Given the description of an element on the screen output the (x, y) to click on. 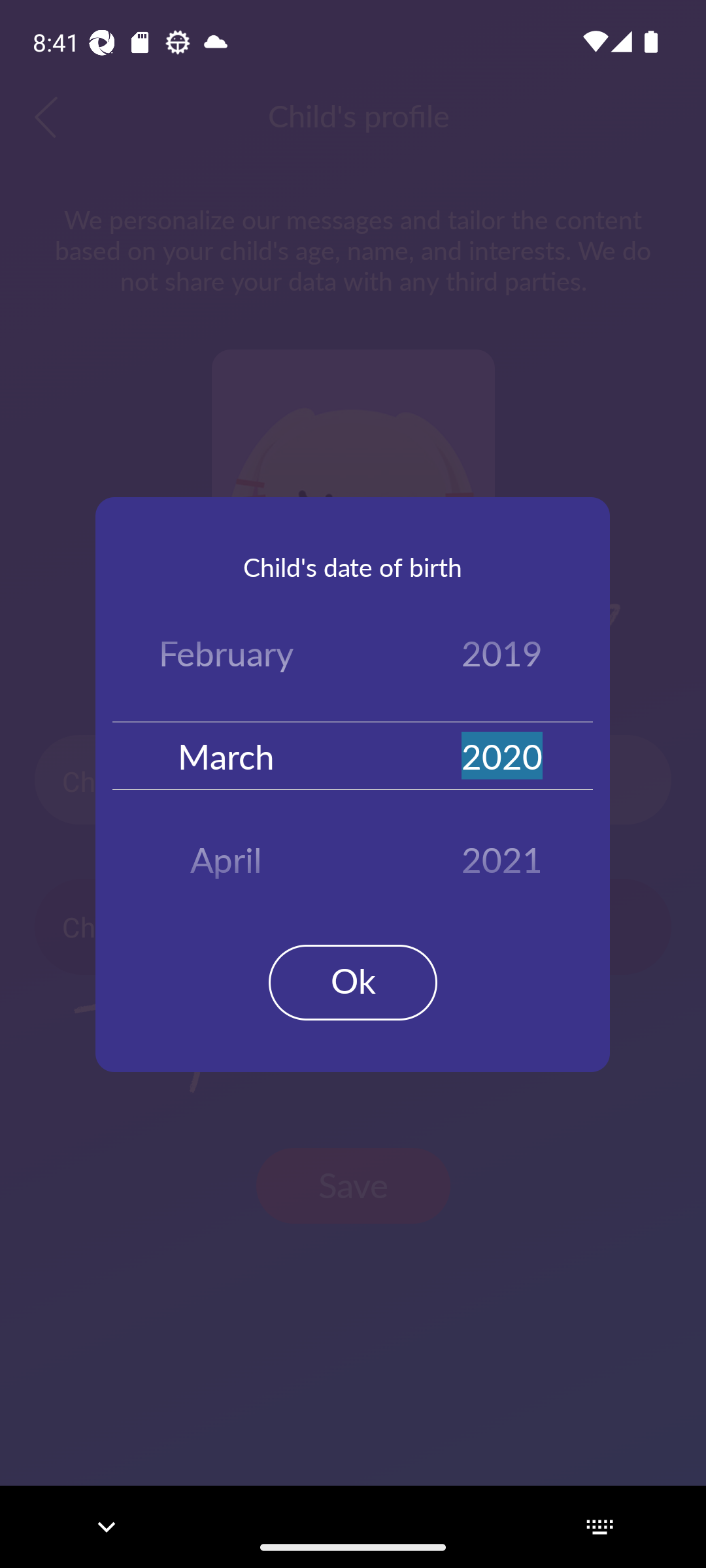
February (226, 656)
2019 (501, 656)
March (226, 754)
2020 (501, 754)
April (226, 852)
2021 (501, 852)
Ok (352, 981)
